Given the description of an element on the screen output the (x, y) to click on. 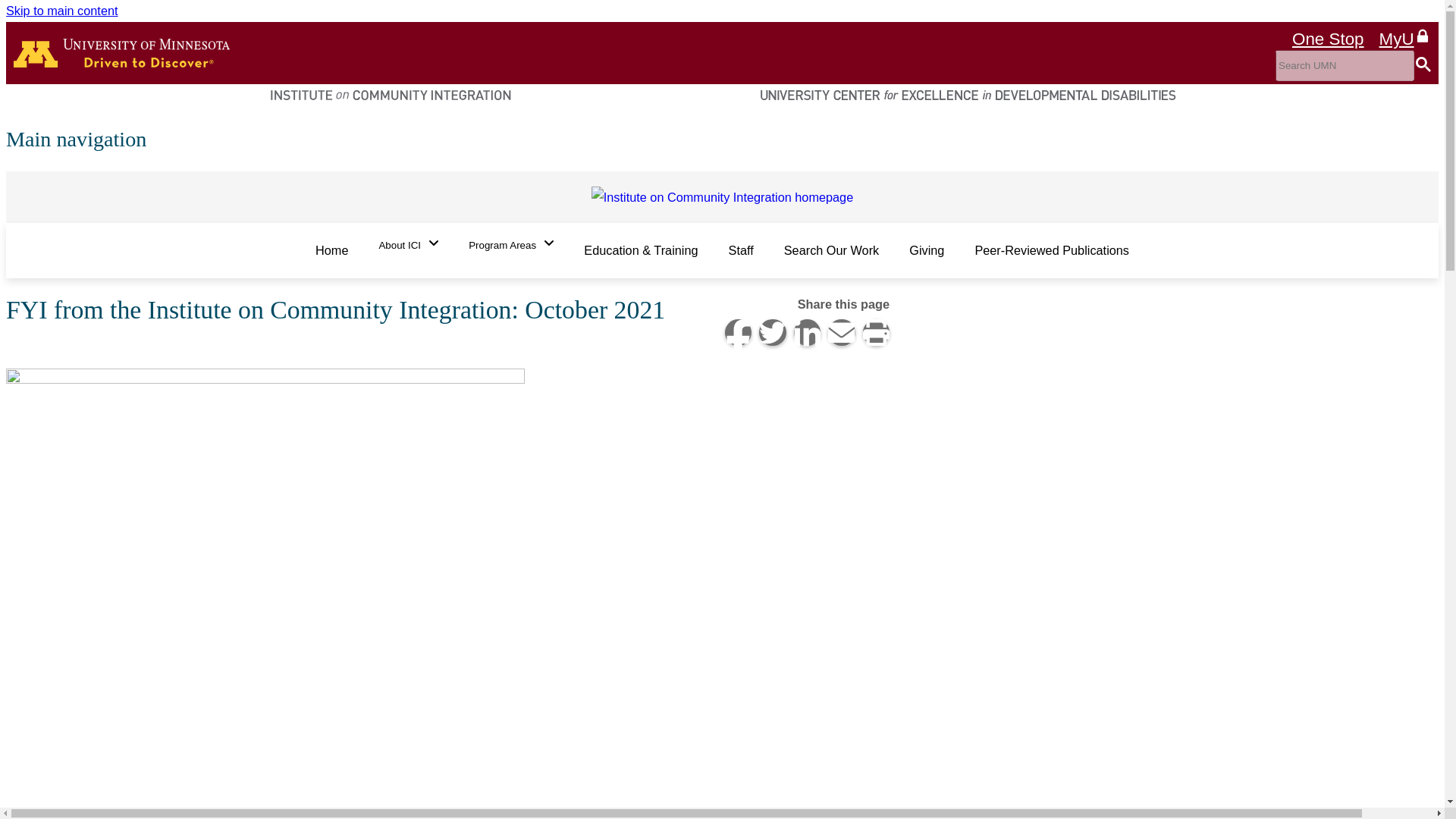
Share this page on Facebook. (738, 332)
Home (330, 250)
Share this page on Twitter. (772, 332)
Peer-Reviewed Publications (1051, 250)
Skip to main content (61, 10)
MyU (1404, 36)
home page (121, 52)
Giving (926, 250)
Print this page. (876, 332)
Staff (740, 250)
Goto Website Homepage (722, 196)
Share this page on LinkedIn. (807, 332)
About ICI (407, 245)
Share this page via email. (842, 332)
One Stop (1328, 38)
